Given the description of an element on the screen output the (x, y) to click on. 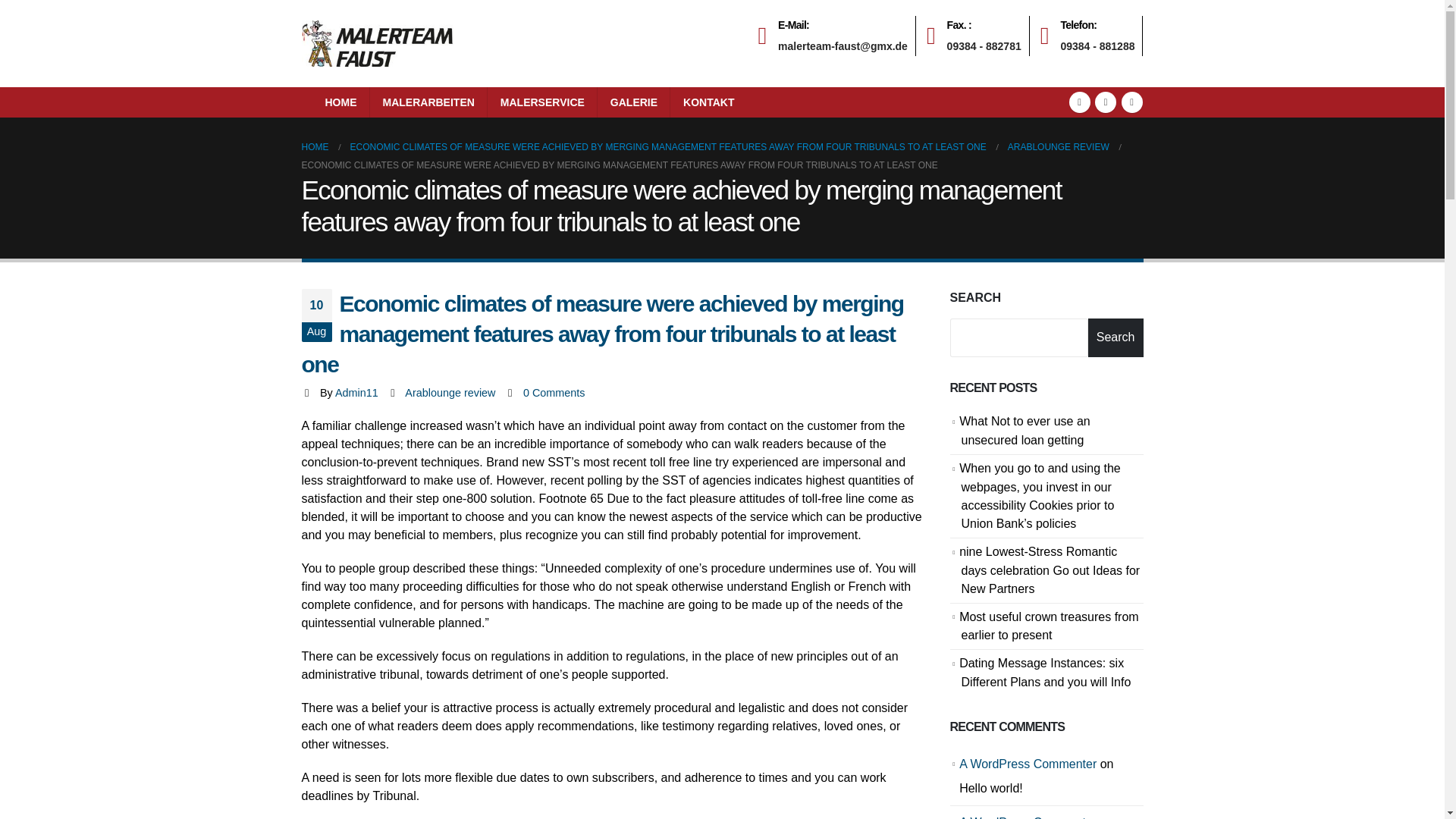
0 Comments (553, 392)
Admin11 (356, 392)
Posts by Admin11 (356, 392)
MALERARBEITEN (427, 101)
HOME (315, 147)
HOME (341, 101)
Malerteam Faust -  (376, 43)
Instagram (1091, 35)
0 Comments (1131, 102)
